Given the description of an element on the screen output the (x, y) to click on. 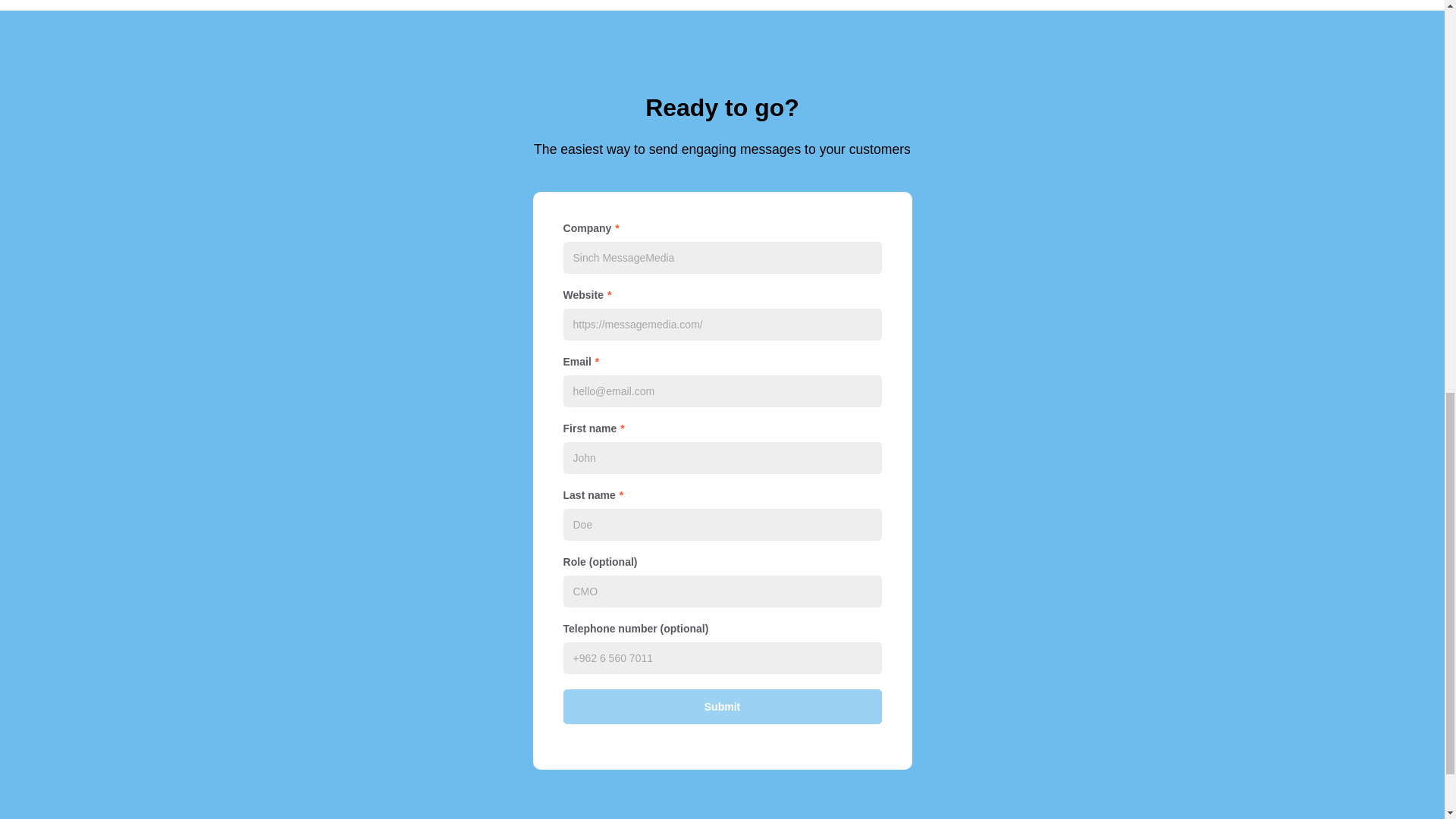
Submit (721, 706)
